Given the description of an element on the screen output the (x, y) to click on. 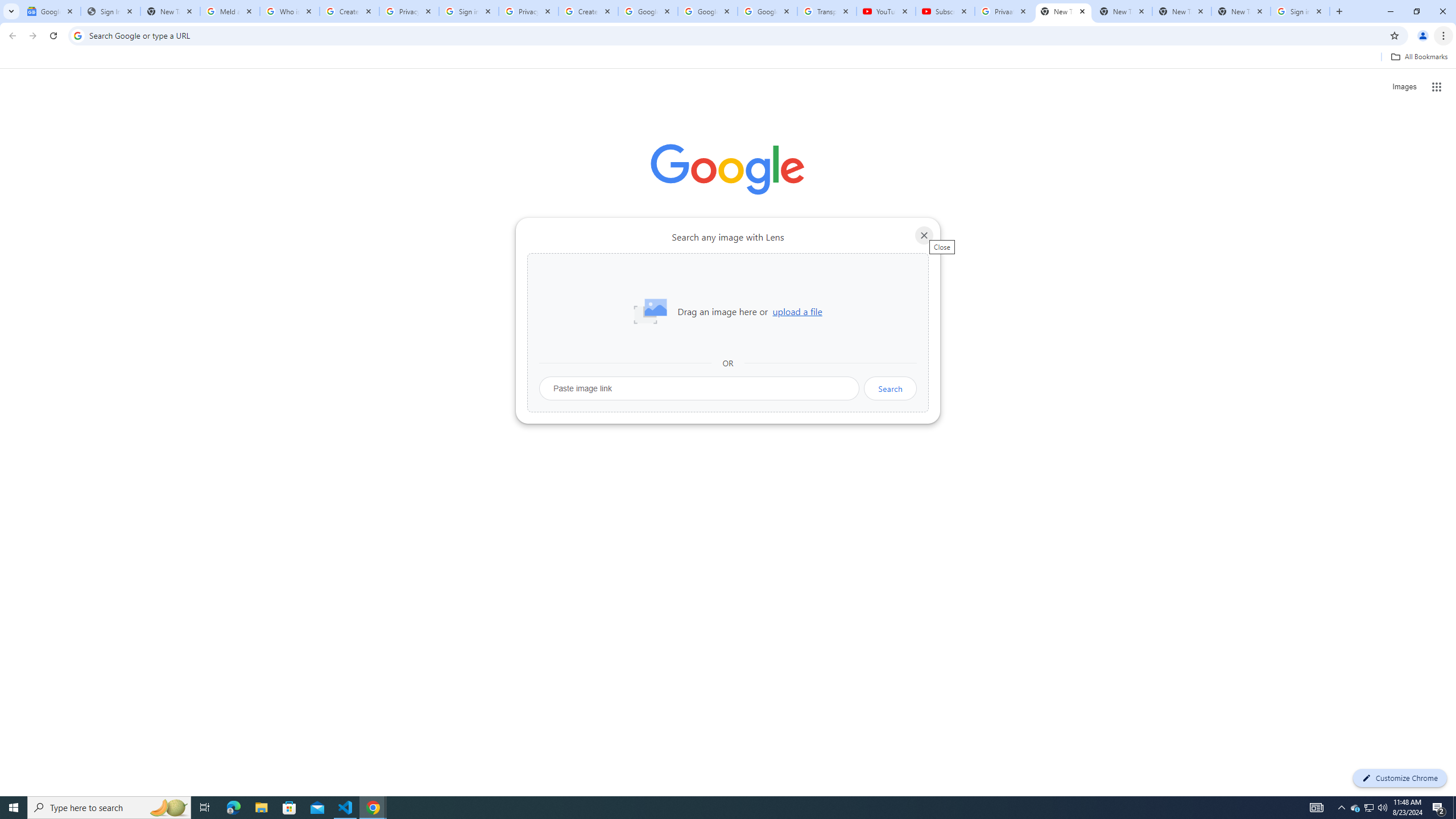
Paste image link (699, 388)
